Given the description of an element on the screen output the (x, y) to click on. 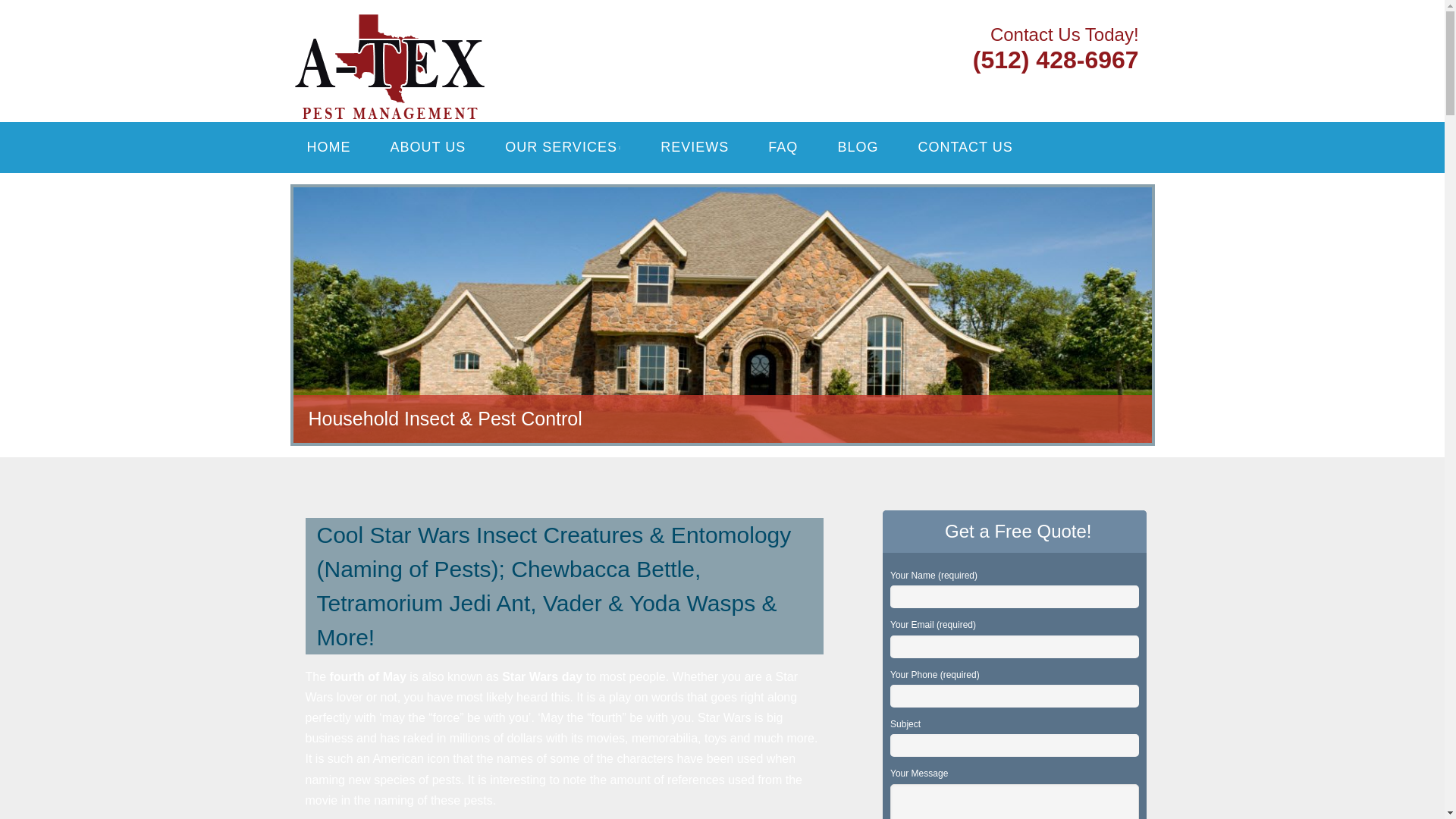
ABOUT US (427, 147)
HOME (328, 147)
A Tex Pest Management (486, 32)
OUR SERVICES (562, 147)
A TEX PEST MANAGEMENT (486, 32)
